Given the description of an element on the screen output the (x, y) to click on. 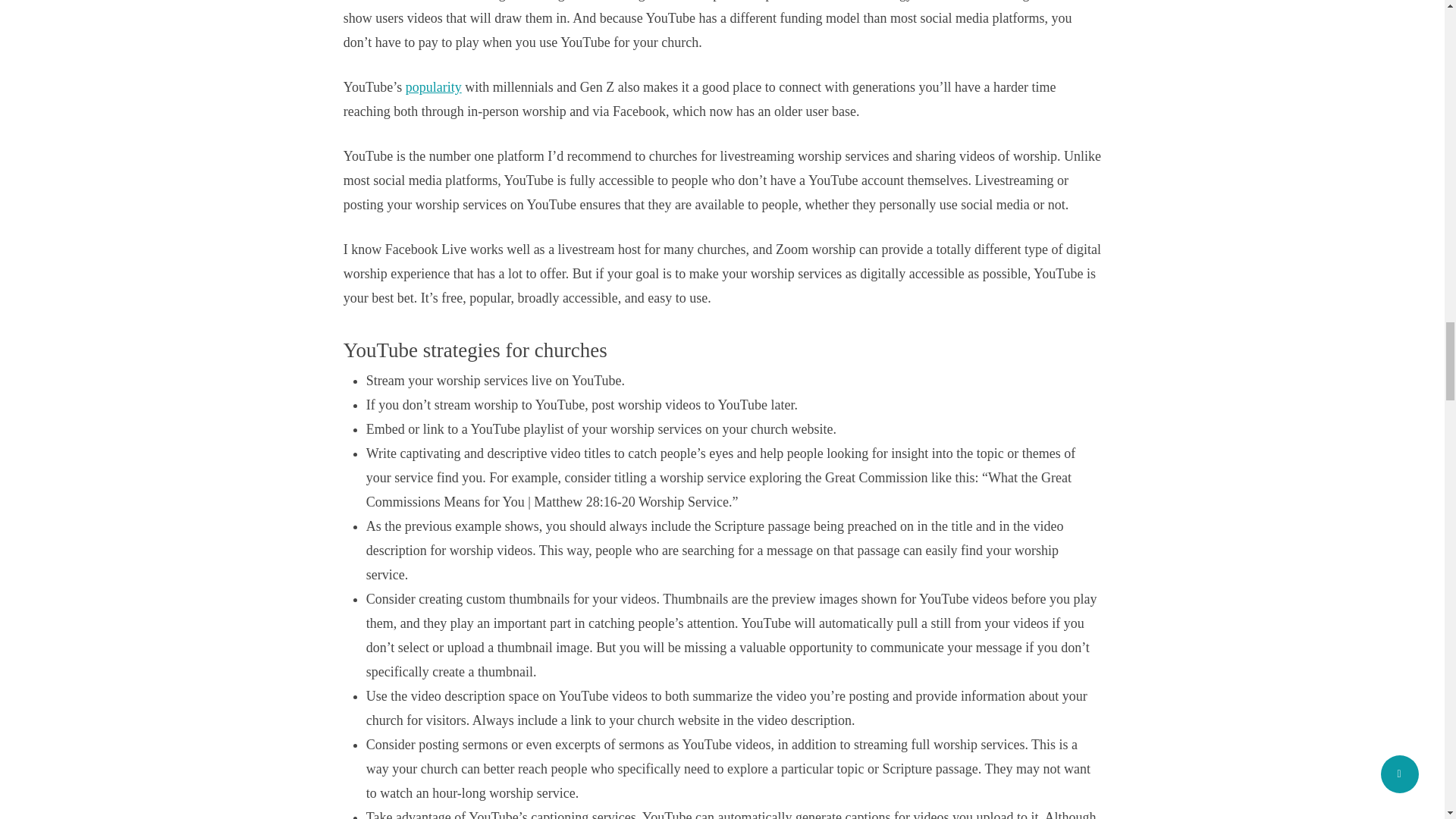
popularity (433, 87)
